Given the description of an element on the screen output the (x, y) to click on. 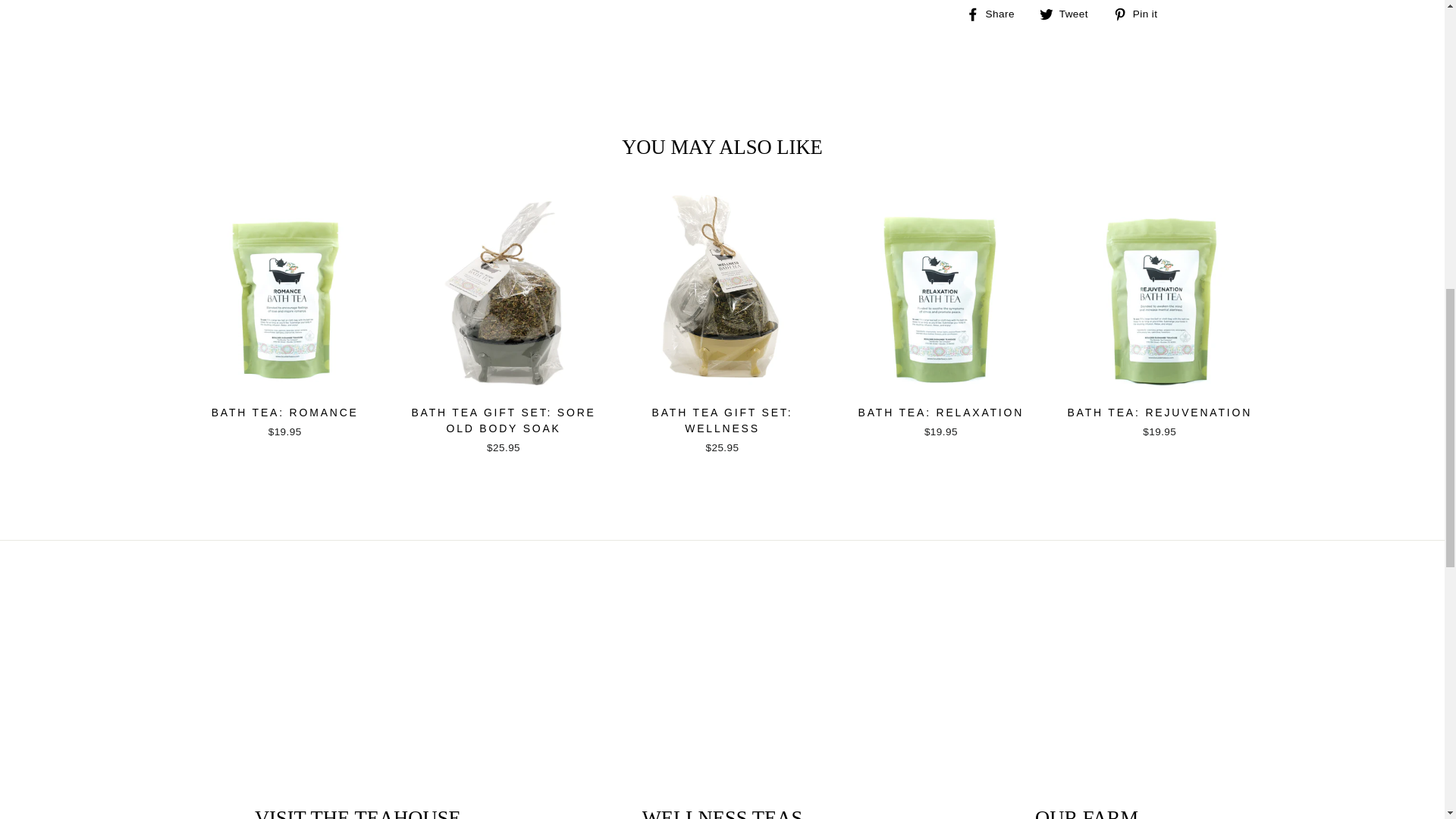
Pin on Pinterest (1141, 13)
Tweet on Twitter (1069, 13)
Share on Facebook (996, 13)
